Given the description of an element on the screen output the (x, y) to click on. 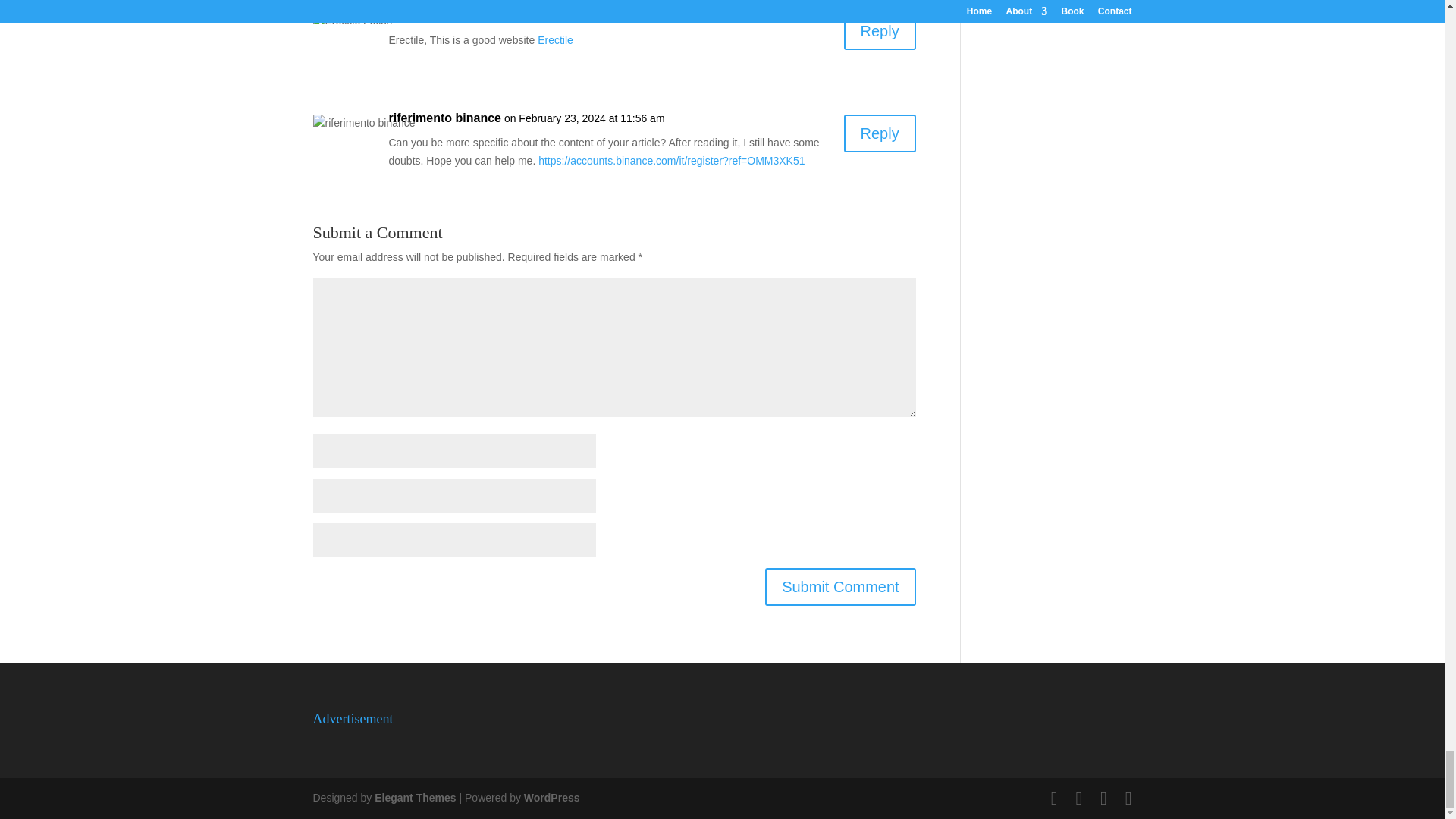
Submit Comment (840, 587)
Premium WordPress Themes (414, 797)
